Given the description of an element on the screen output the (x, y) to click on. 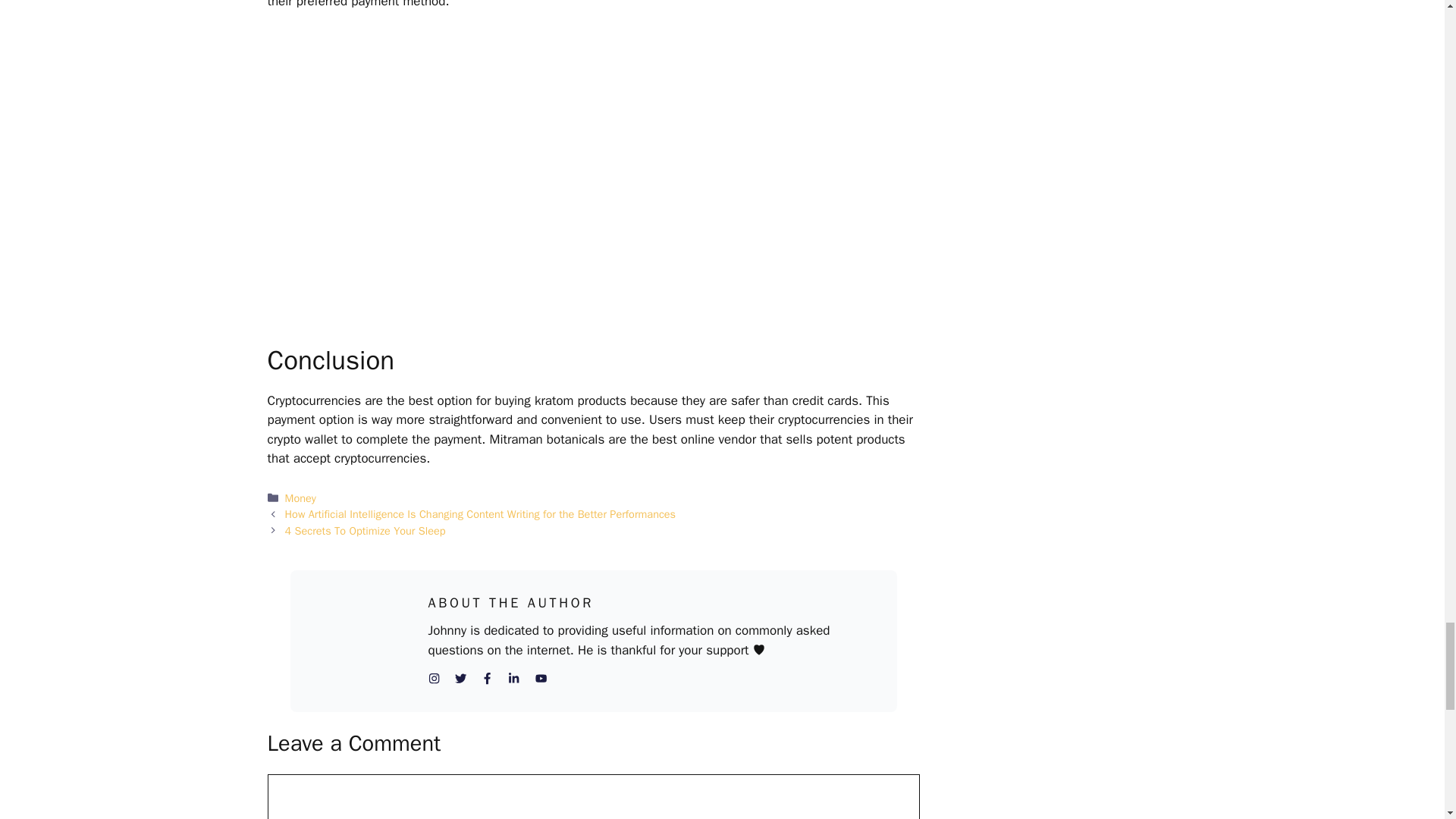
4 Secrets To Optimize Your Sleep (365, 530)
Money (300, 498)
